Given the description of an element on the screen output the (x, y) to click on. 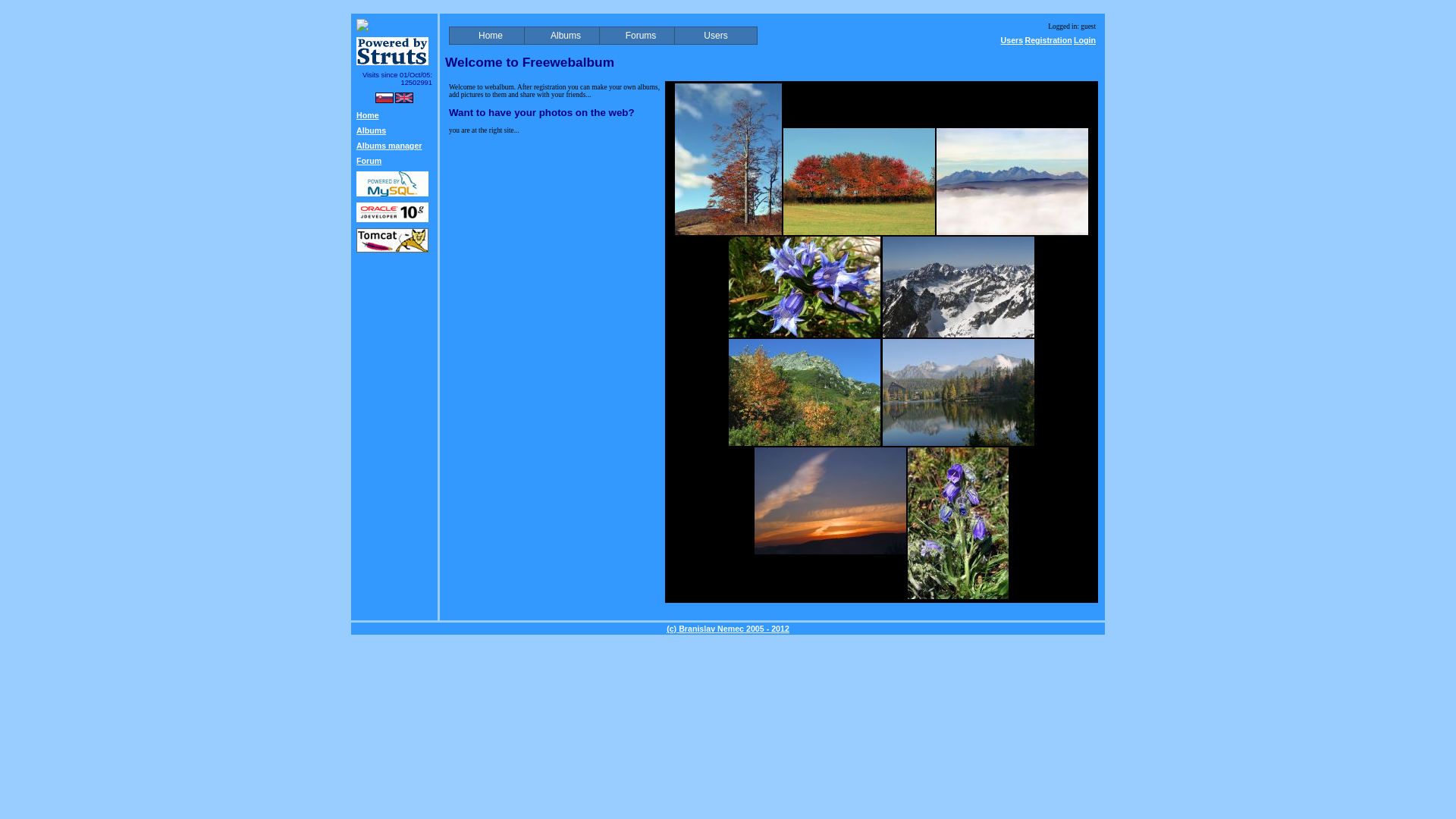
Users (715, 35)
Users (1012, 40)
Forums (640, 35)
Albums (370, 130)
Albums (565, 35)
Home (367, 114)
Albums manager (389, 144)
Home (490, 35)
Forum (368, 160)
Login (1085, 40)
